Given the description of an element on the screen output the (x, y) to click on. 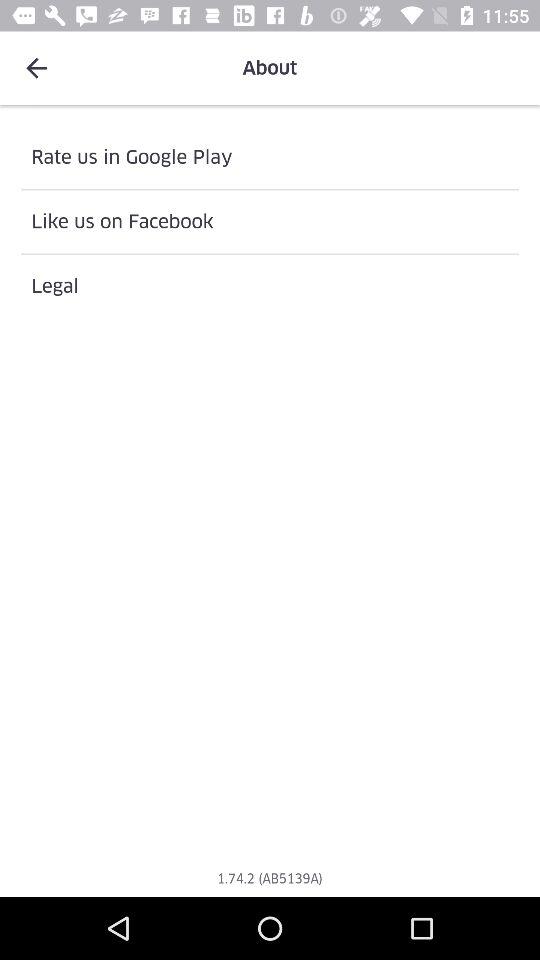
click the item below rate us in item (270, 221)
